Given the description of an element on the screen output the (x, y) to click on. 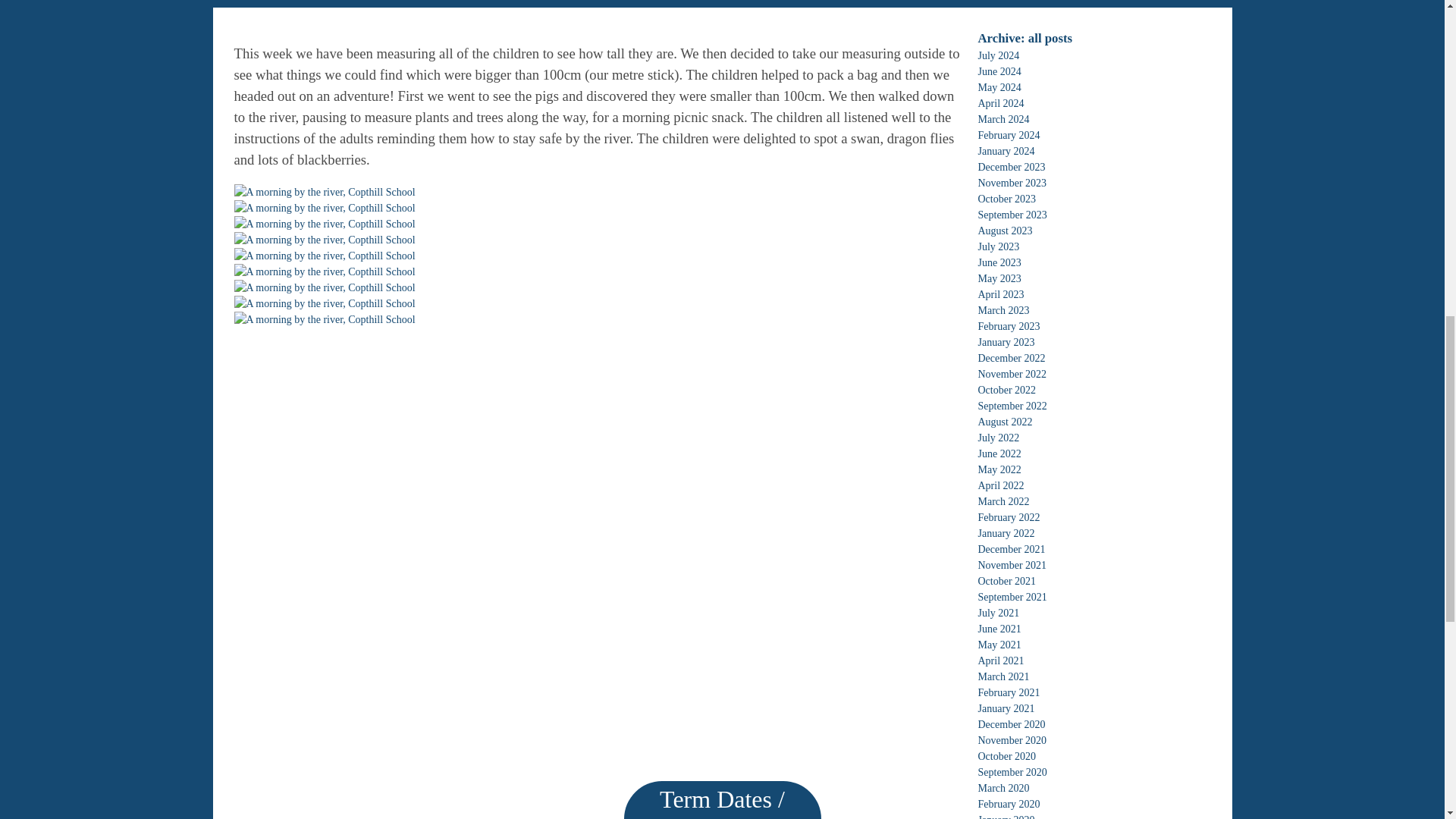
Calendar (722, 16)
View the Copthill School Term Dates (722, 16)
